Given the description of an element on the screen output the (x, y) to click on. 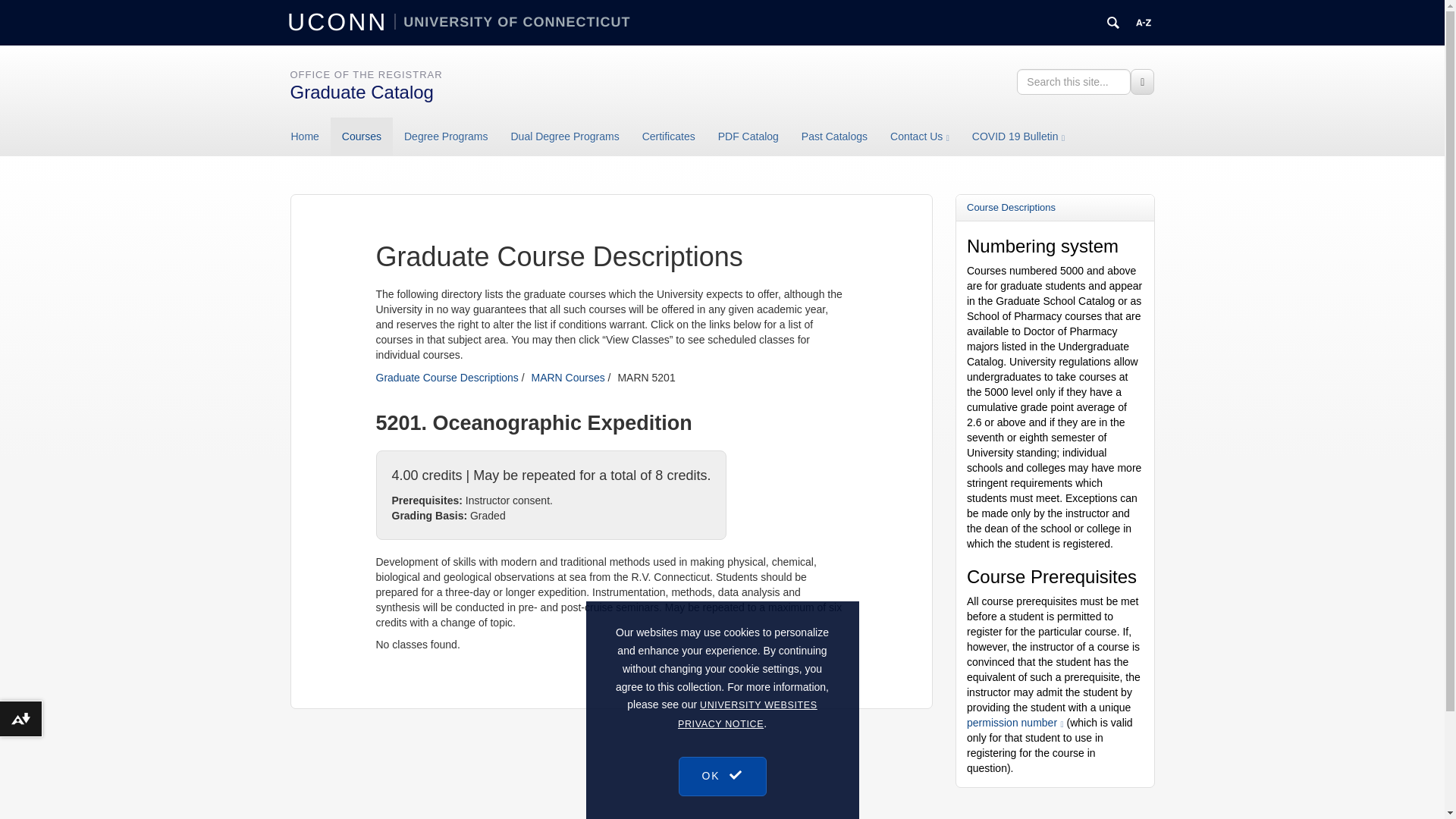
Search UConn (1112, 22)
UCONN (340, 21)
UNIVERSITY OF CONNECTICUT (512, 21)
Search this site...  (1073, 81)
UConn A to Z Index (1143, 22)
OFFICE OF THE REGISTRAR (365, 74)
PDF Catalog (748, 136)
Contact Us (919, 136)
Download alternative formats ... (21, 719)
Degree Programs (446, 136)
